Given the description of an element on the screen output the (x, y) to click on. 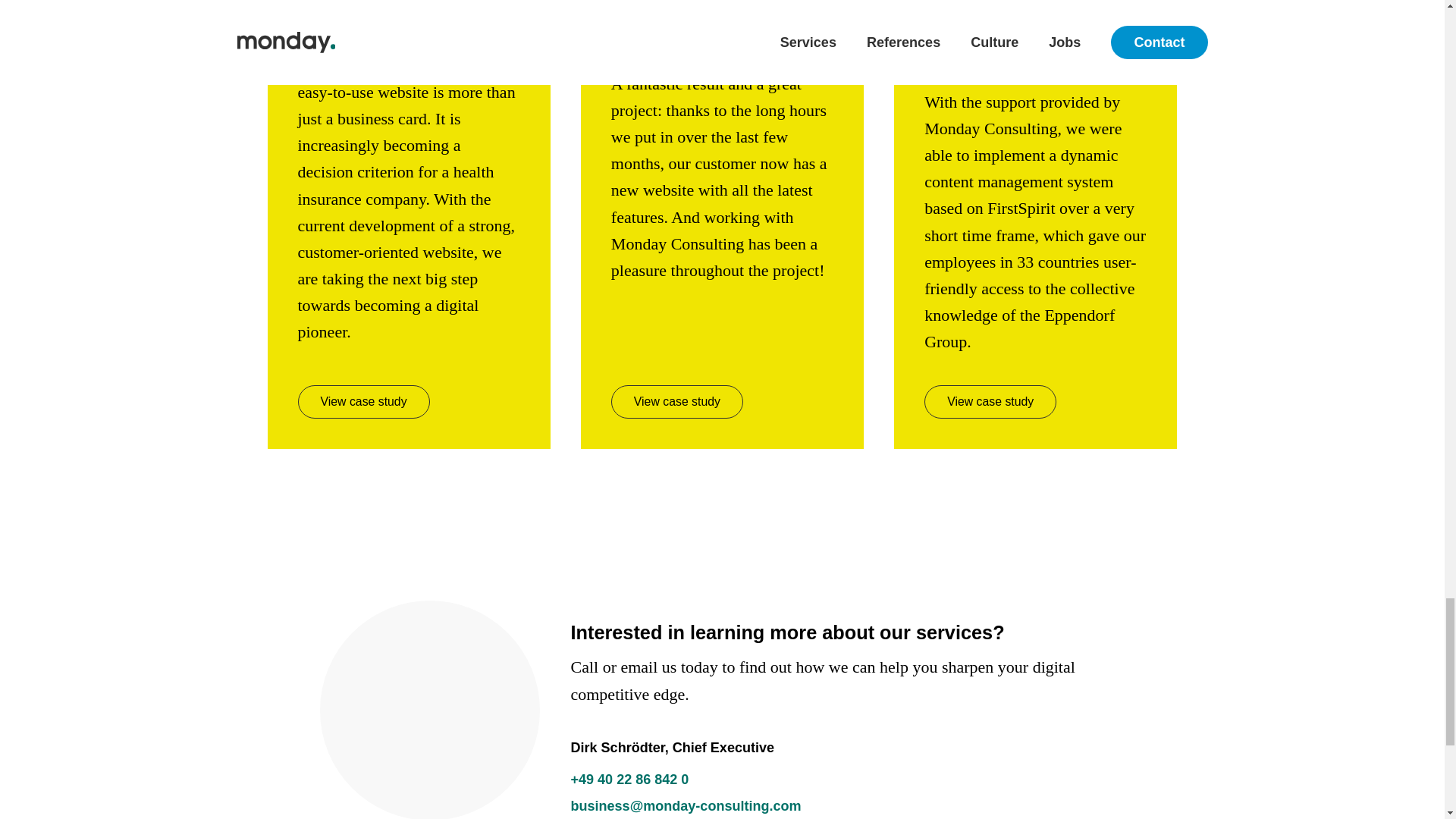
View case study (363, 401)
View case study (676, 401)
View case study (990, 401)
